Given the description of an element on the screen output the (x, y) to click on. 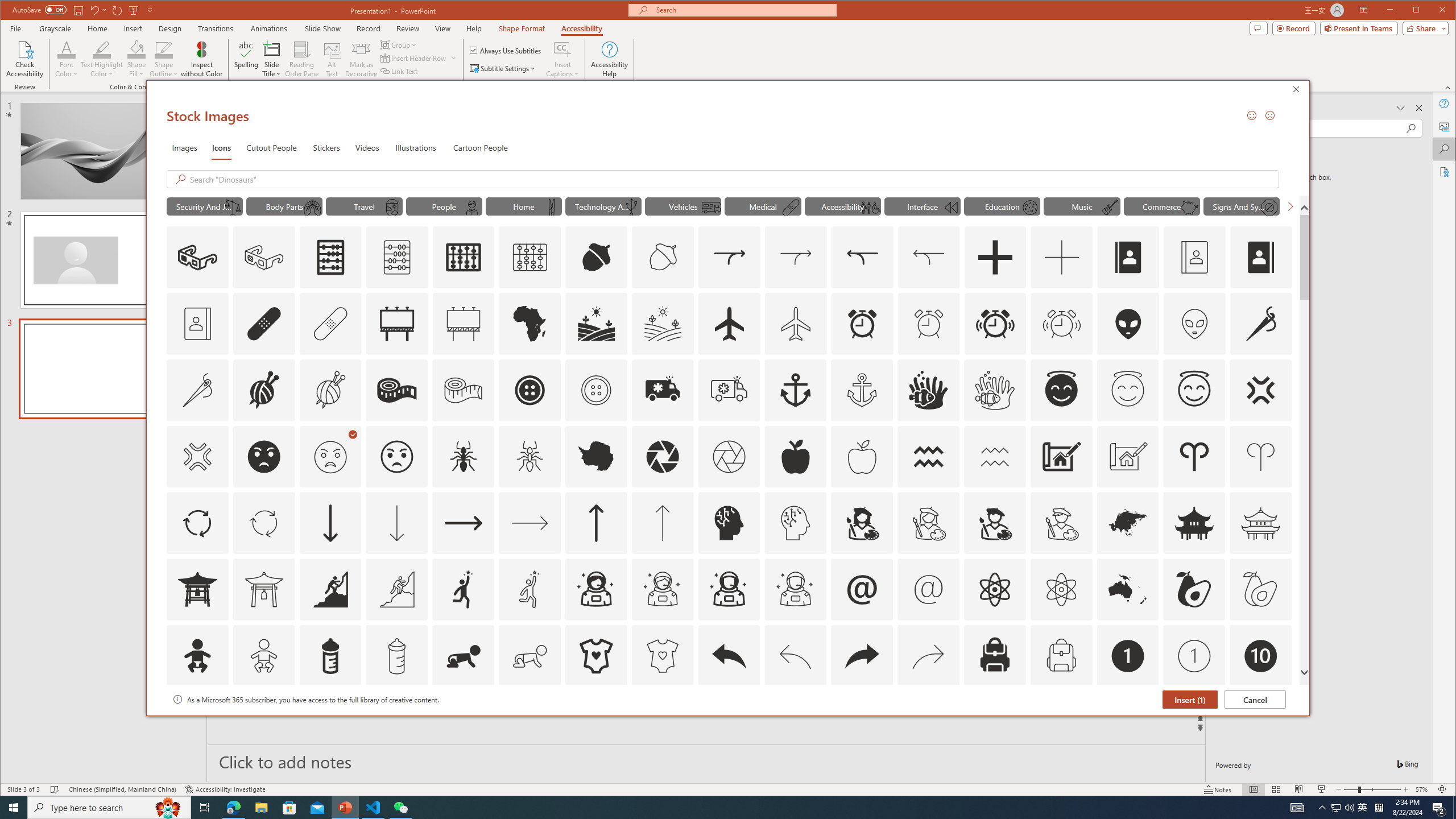
Illustrations (415, 147)
AutomationID: Icons_ElectricGuitar_M (1110, 207)
AutomationID: Icons_Abacus (330, 256)
AutomationID: Icons_AlterationsTailoring1_M (330, 389)
Images (183, 147)
"Body Parts" Icons. (283, 206)
AutomationID: Icons_Africa (529, 323)
AutomationID: Icons_AlienFace (1128, 323)
AutomationID: Icons_Acorn (596, 256)
Alt Text (1444, 125)
